Given the description of an element on the screen output the (x, y) to click on. 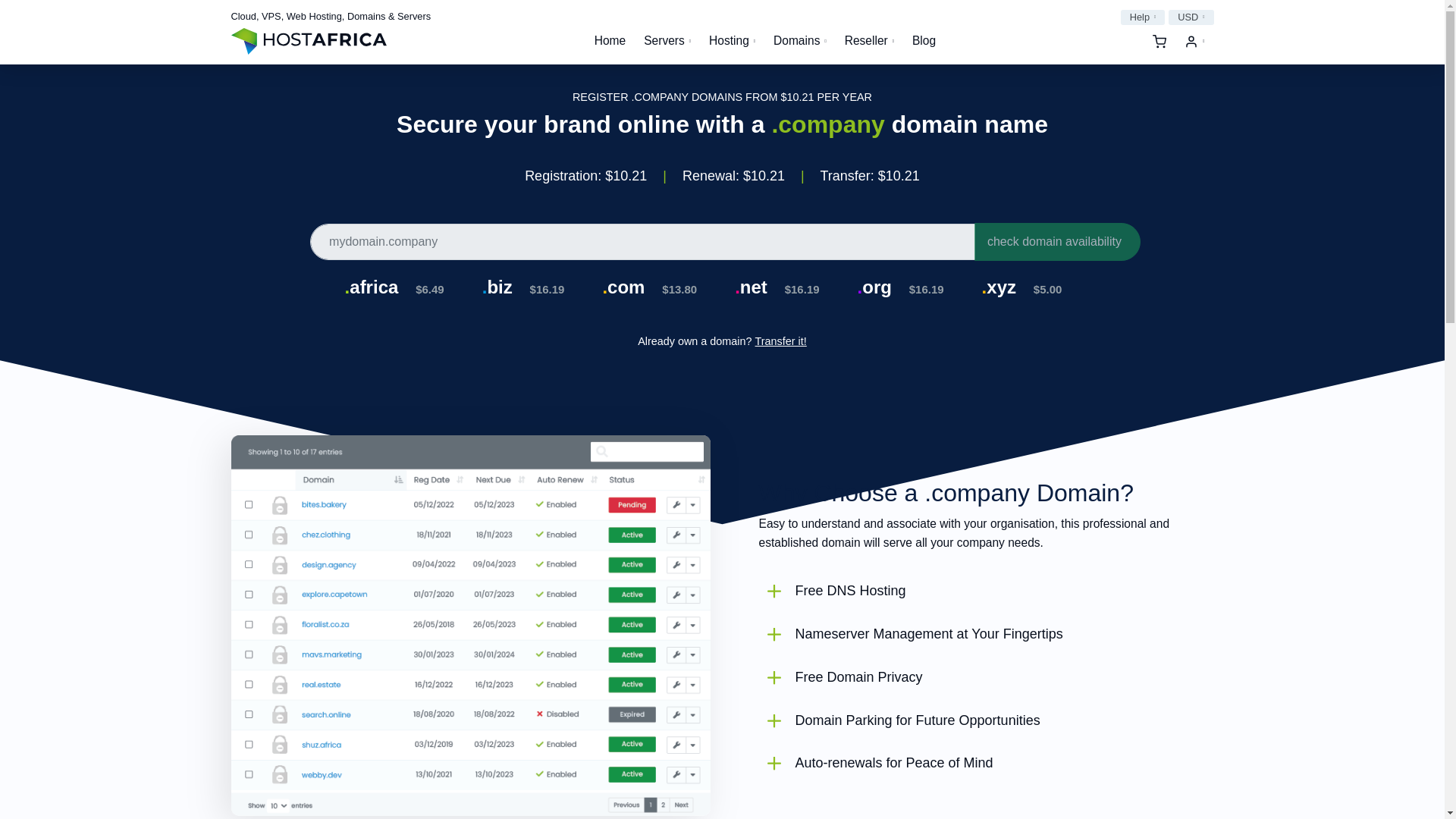
Help (1143, 17)
view cart (1158, 41)
user account (1193, 41)
check domain availability (1057, 241)
Home (609, 41)
USD (1190, 17)
Reseller (868, 41)
Servers (667, 41)
Domains (799, 41)
Hosting (732, 41)
check domain availability (1057, 241)
